Given the description of an element on the screen output the (x, y) to click on. 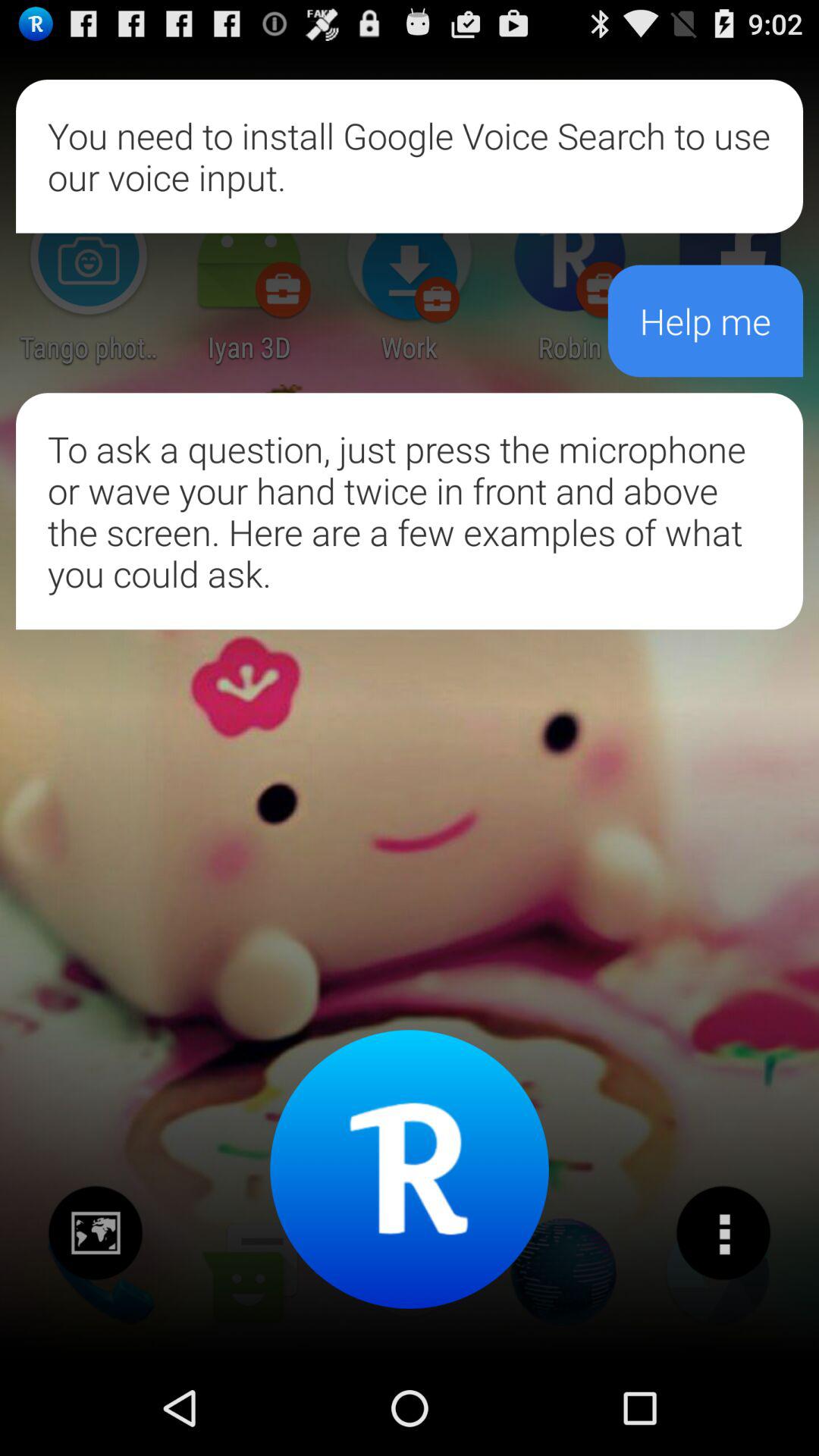
check news (95, 1232)
